Given the description of an element on the screen output the (x, y) to click on. 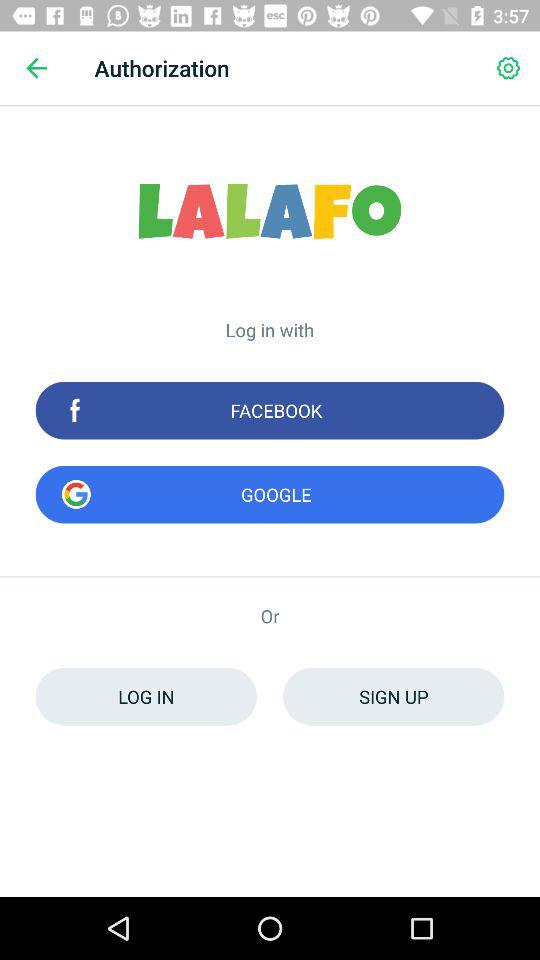
scroll to sign up (393, 696)
